Given the description of an element on the screen output the (x, y) to click on. 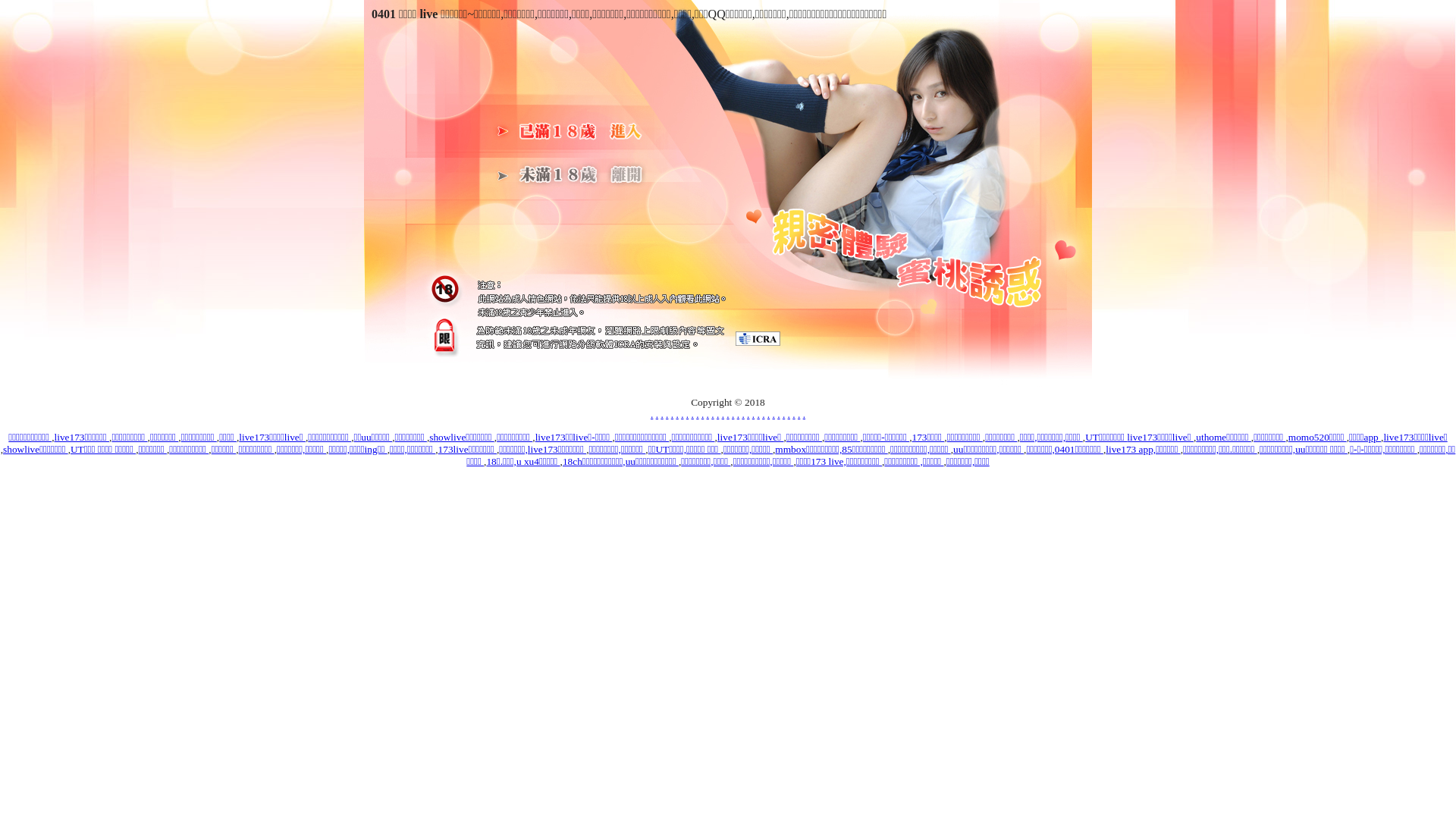
. Element type: text (712, 414)
. Element type: text (773, 414)
. Element type: text (676, 414)
. Element type: text (804, 414)
. Element type: text (778, 414)
. Element type: text (717, 414)
. Element type: text (656, 414)
. Element type: text (681, 414)
. Element type: text (651, 414)
. Element type: text (697, 414)
. Element type: text (757, 414)
. Element type: text (722, 414)
. Element type: text (742, 414)
. Element type: text (687, 414)
. Element type: text (763, 414)
. Element type: text (707, 414)
. Element type: text (788, 414)
. Element type: text (692, 414)
. Element type: text (753, 414)
. Element type: text (702, 414)
. Element type: text (672, 414)
. Element type: text (783, 414)
. Element type: text (747, 414)
. Element type: text (727, 414)
. Element type: text (732, 414)
. Element type: text (661, 414)
. Element type: text (793, 414)
. Element type: text (738, 414)
. Element type: text (666, 414)
. Element type: text (798, 414)
. Element type: text (768, 414)
